Given the description of an element on the screen output the (x, y) to click on. 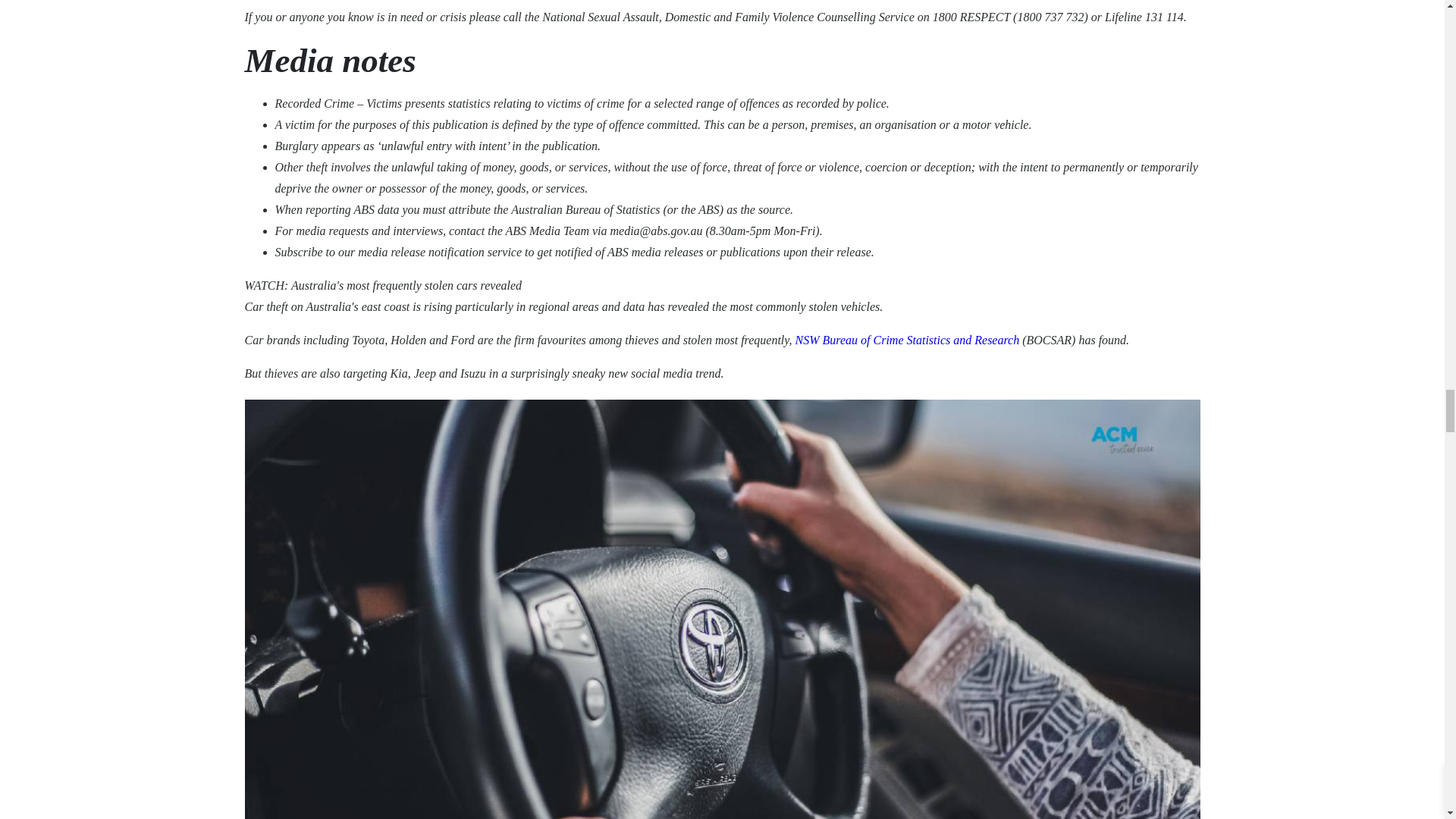
NSW Bureau of Crime Statistics and Research (907, 339)
